Given the description of an element on the screen output the (x, y) to click on. 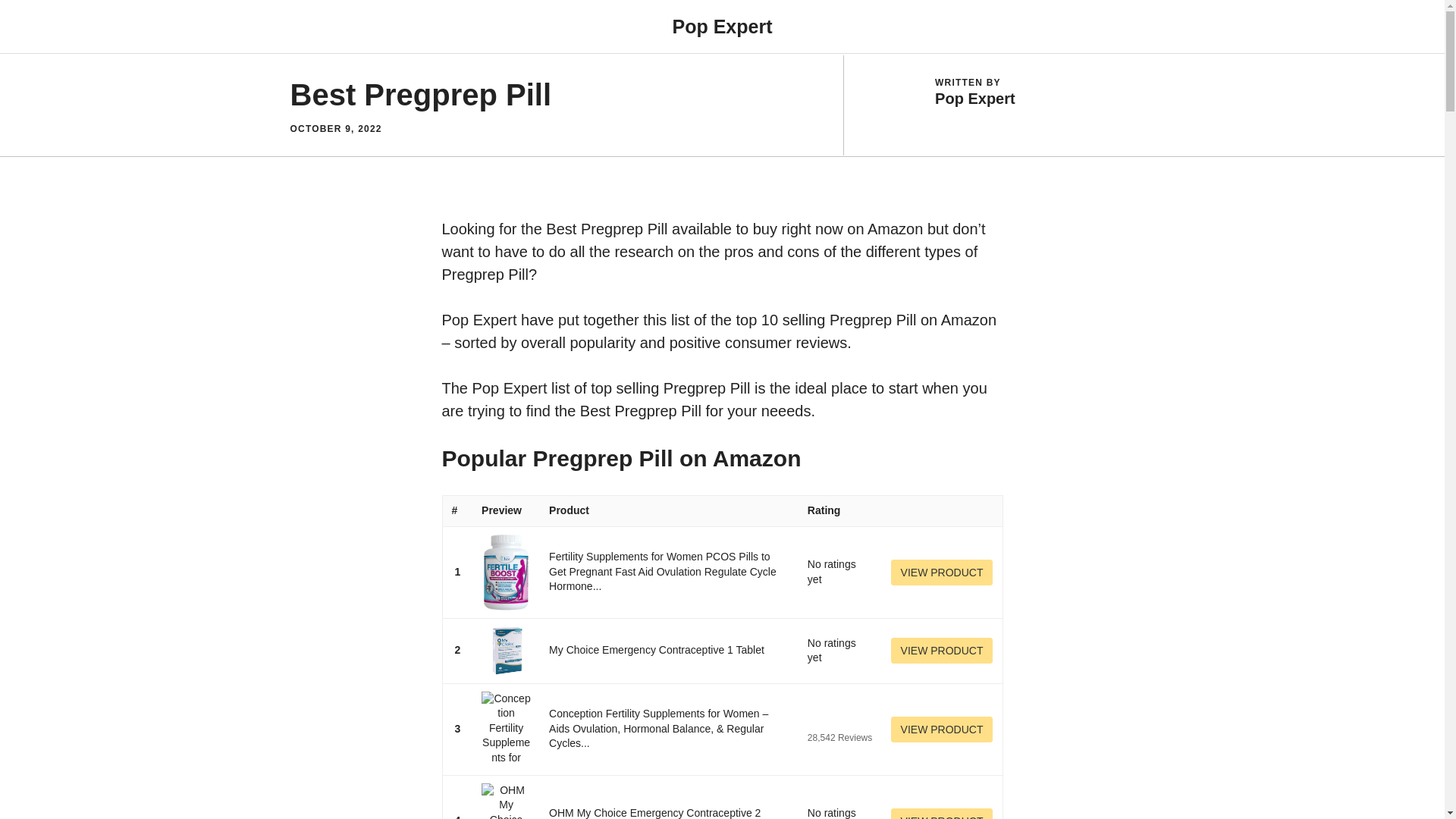
VIEW PRODUCT (941, 650)
VIEW PRODUCT (941, 813)
Pop Expert (721, 25)
VIEW PRODUCT (941, 729)
VIEW PRODUCT (941, 572)
My Choice Emergency Contraceptive 1 Tablet (656, 649)
VIEW PRODUCT (941, 729)
My Choice Emergency Contraceptive 1 Tablet (656, 649)
Reviews on Amazon (837, 720)
